Given the description of an element on the screen output the (x, y) to click on. 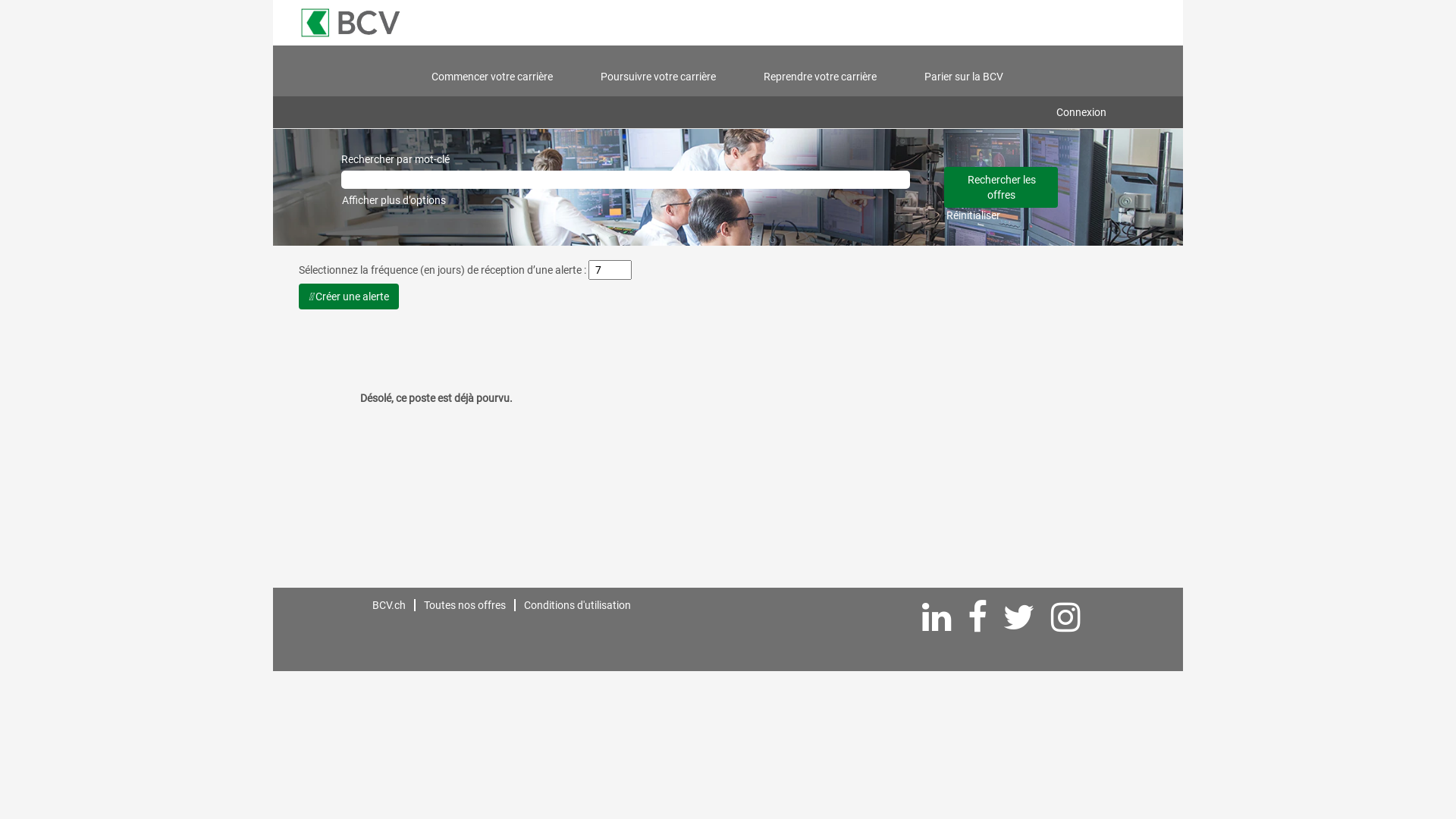
Conditions d'utilisation Element type: text (577, 605)
Connexion Element type: text (1081, 111)
Toutes nos offres Element type: text (464, 605)
Parier sur la BCV Element type: text (963, 76)
BCV.ch Element type: text (388, 605)
instagram Element type: hover (1065, 618)
twitter Element type: hover (1018, 618)
facebook Element type: hover (977, 618)
linkedin Element type: hover (936, 618)
Rechercher les offres Element type: text (1000, 186)
